Given the description of an element on the screen output the (x, y) to click on. 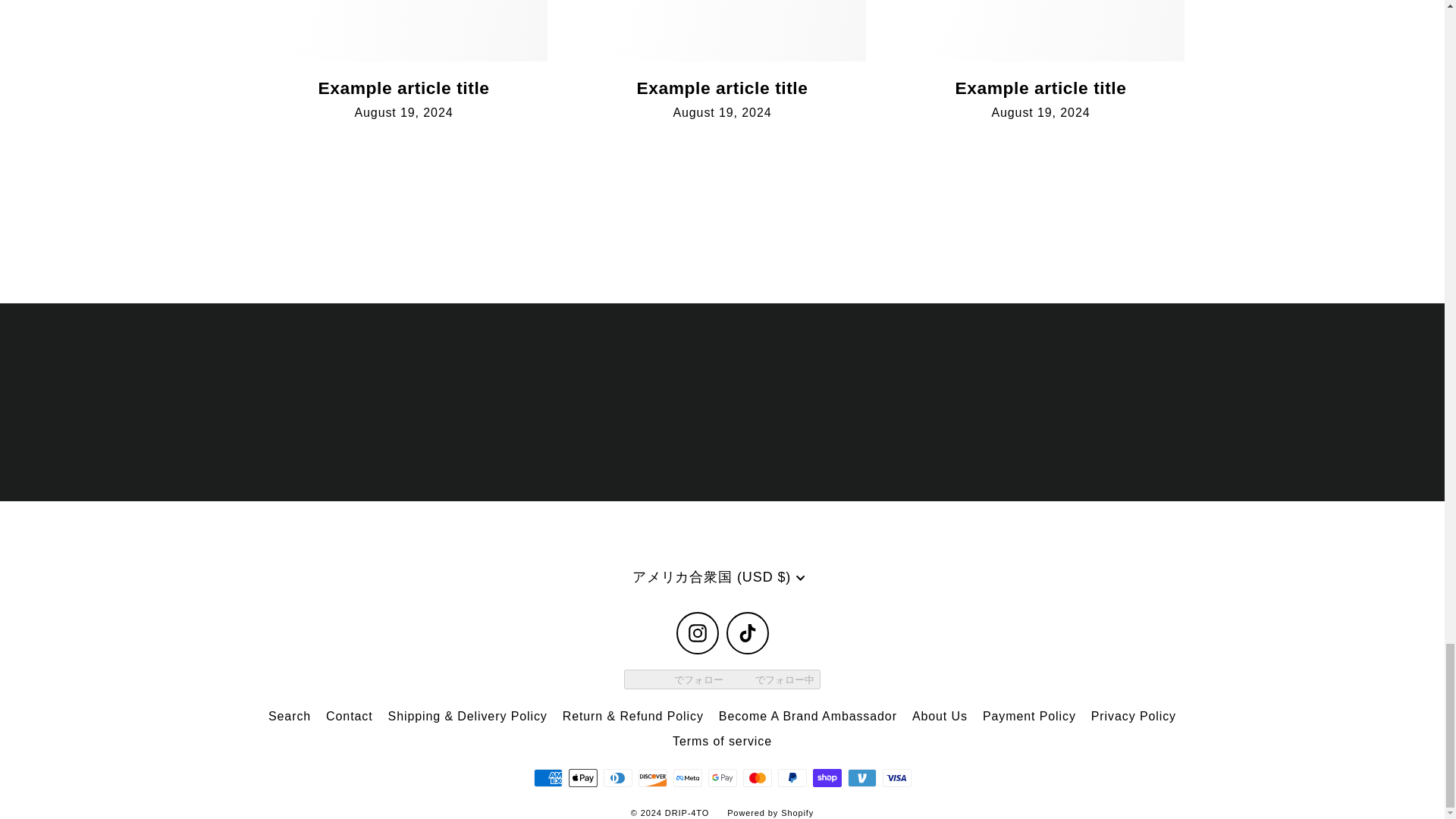
Mastercard (756, 778)
American Express (548, 778)
Venmo (861, 778)
PayPal (791, 778)
Example article title (403, 87)
Shop Pay (826, 778)
Meta Pay (686, 778)
Discover (652, 778)
DRIP-4TO on TikTok (747, 632)
Google Pay (721, 778)
